Given the description of an element on the screen output the (x, y) to click on. 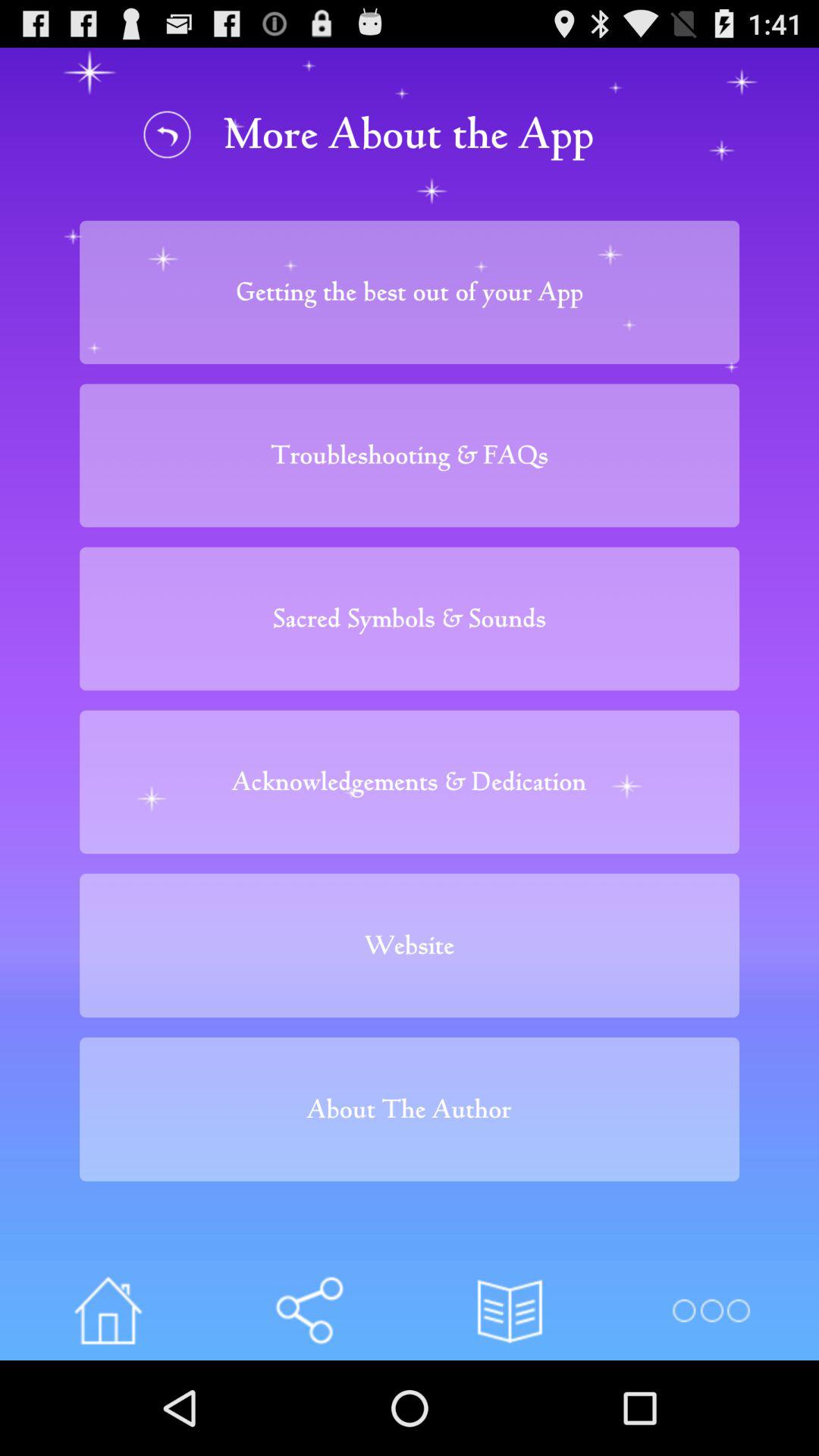
select more option which is on the bottom right corner of page (710, 1310)
